Given the description of an element on the screen output the (x, y) to click on. 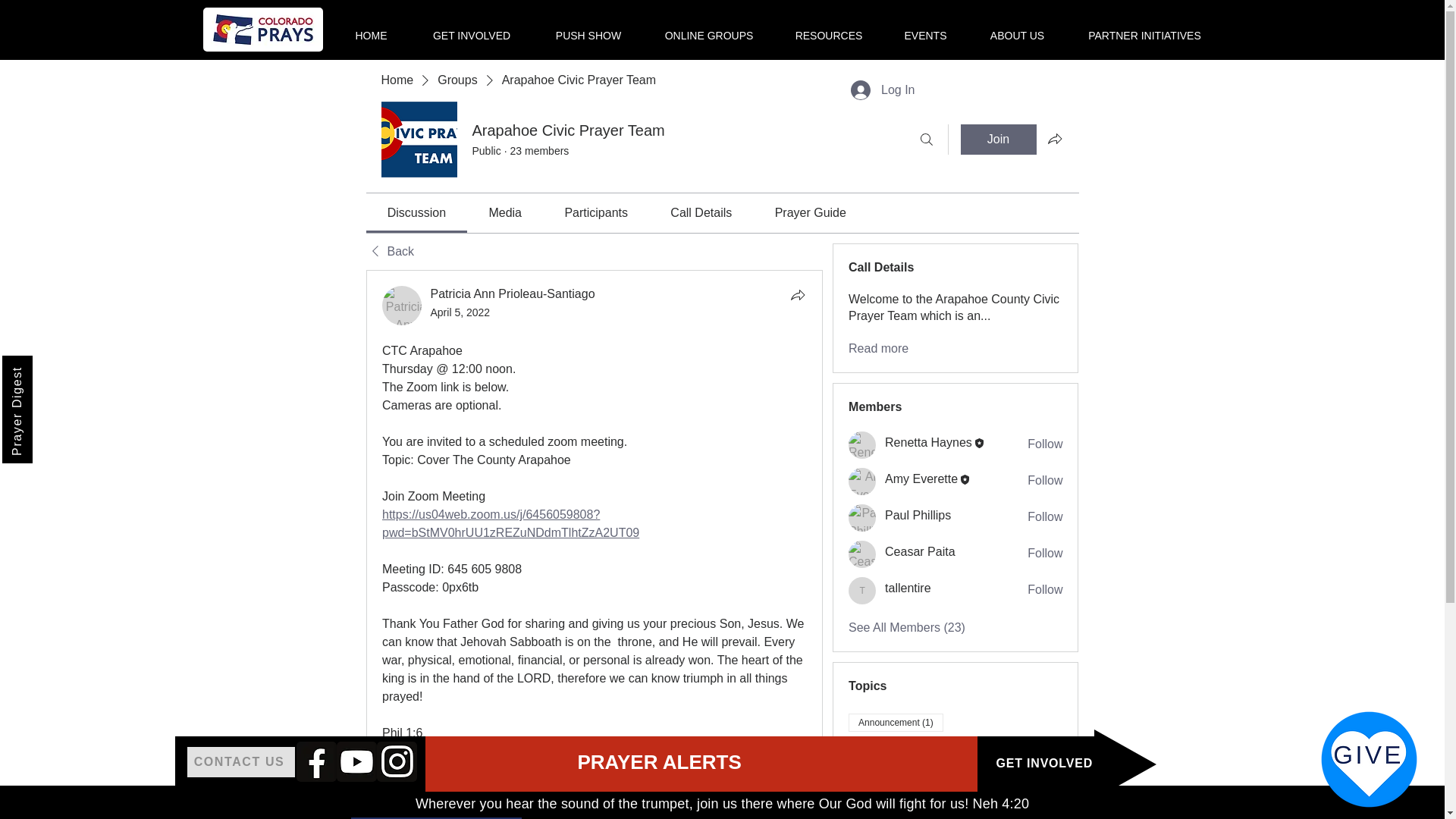
April 5, 2022 (460, 312)
PUSH SHOW (588, 29)
Prayer Digest (56, 370)
Patricia Ann Prioleau-Santiago (401, 305)
Read more (878, 348)
ONLINE GROUPS (708, 29)
Paul Phillips (862, 517)
Back (389, 251)
Amy Everette (862, 481)
0 Comments (776, 803)
